Given the description of an element on the screen output the (x, y) to click on. 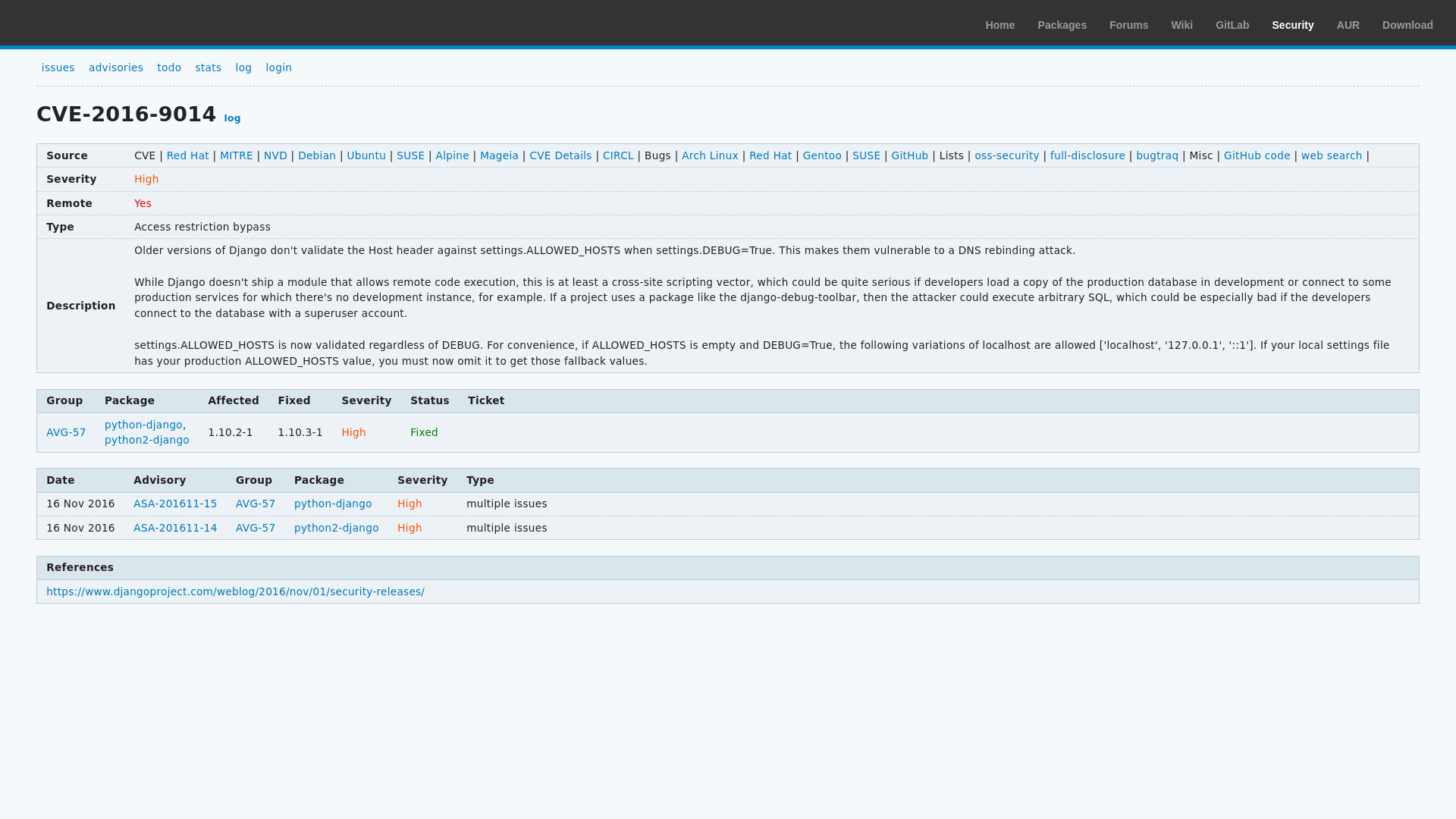
Return to the main page (83, 22)
AVG-57 (65, 431)
Gentoo (822, 155)
GitHub (909, 155)
todo (168, 67)
Arch news, packages, projects and more (999, 24)
Community forums (1128, 24)
NVD (274, 155)
Download (1406, 24)
log (232, 118)
Arch Linux (83, 22)
MITRE (236, 155)
oss-security (1006, 155)
CIRCL (617, 155)
Debian (317, 155)
